Given the description of an element on the screen output the (x, y) to click on. 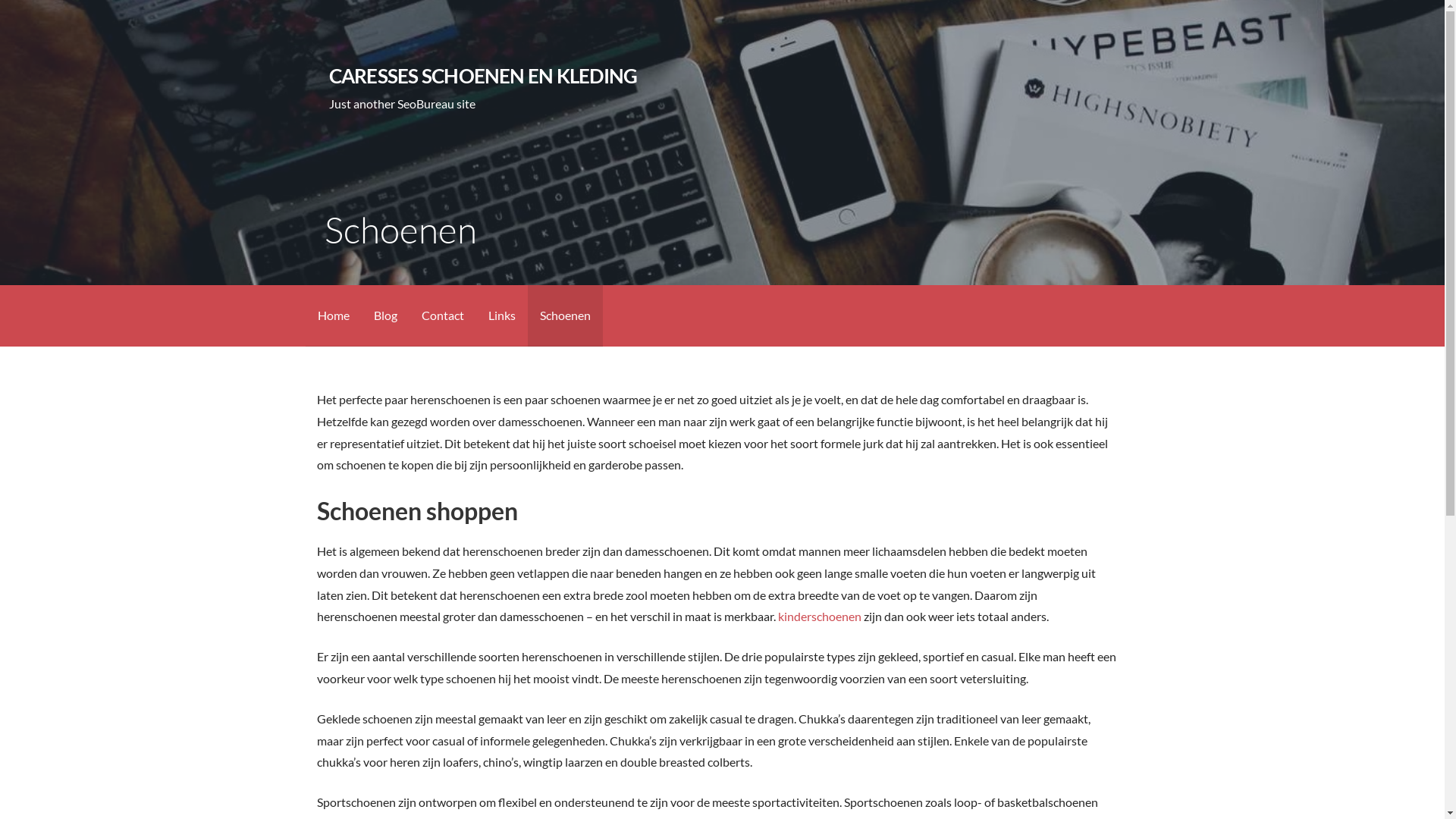
Schoenen Element type: text (564, 315)
Blog Element type: text (384, 315)
CARESSES SCHOENEN EN KLEDING Element type: text (483, 75)
kinderschoenen Element type: text (819, 615)
Links Element type: text (501, 315)
Home Element type: text (332, 315)
Contact Element type: text (442, 315)
